Given the description of an element on the screen output the (x, y) to click on. 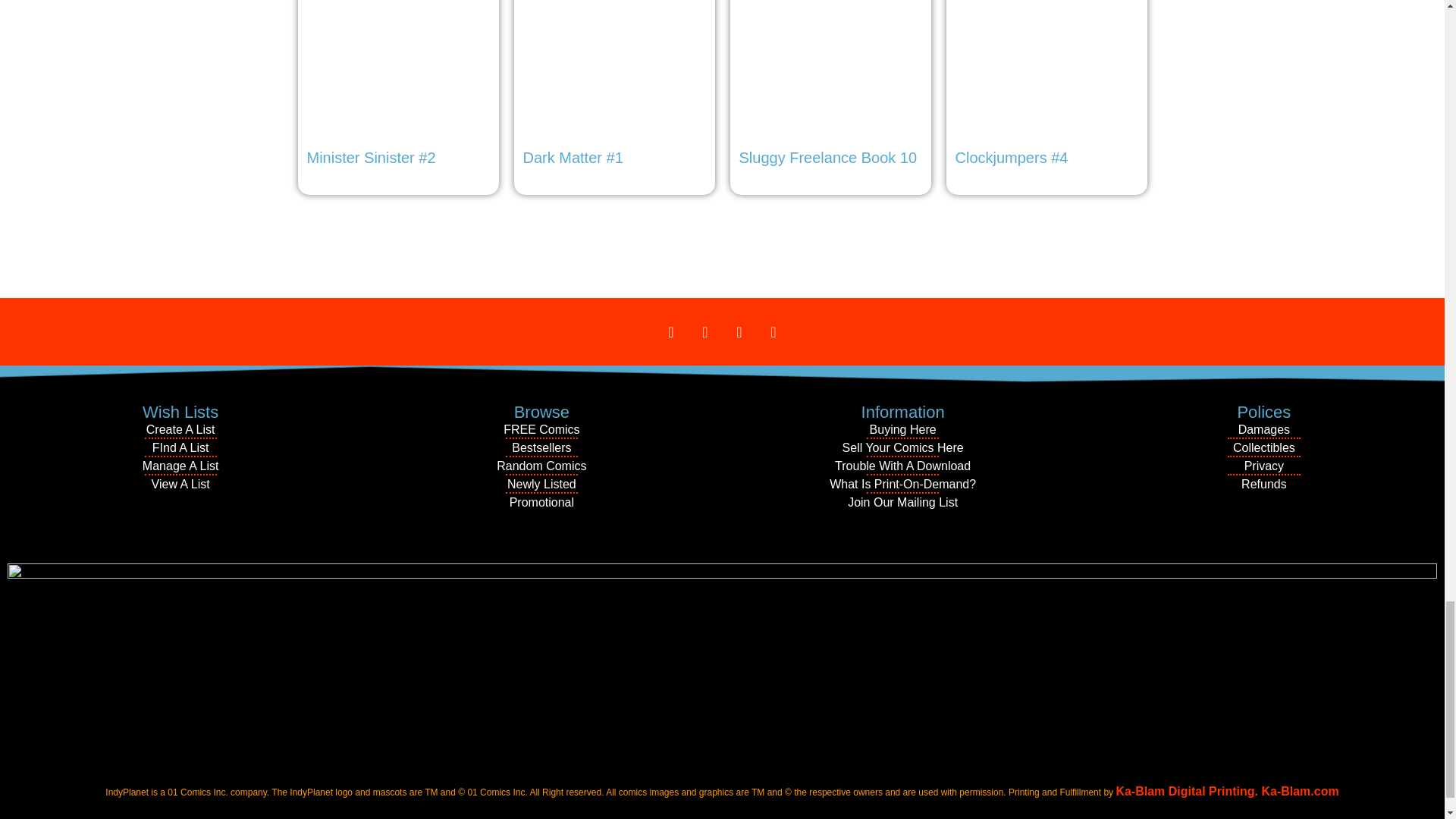
Sluggy Freelance Book 10 (829, 87)
